Given the description of an element on the screen output the (x, y) to click on. 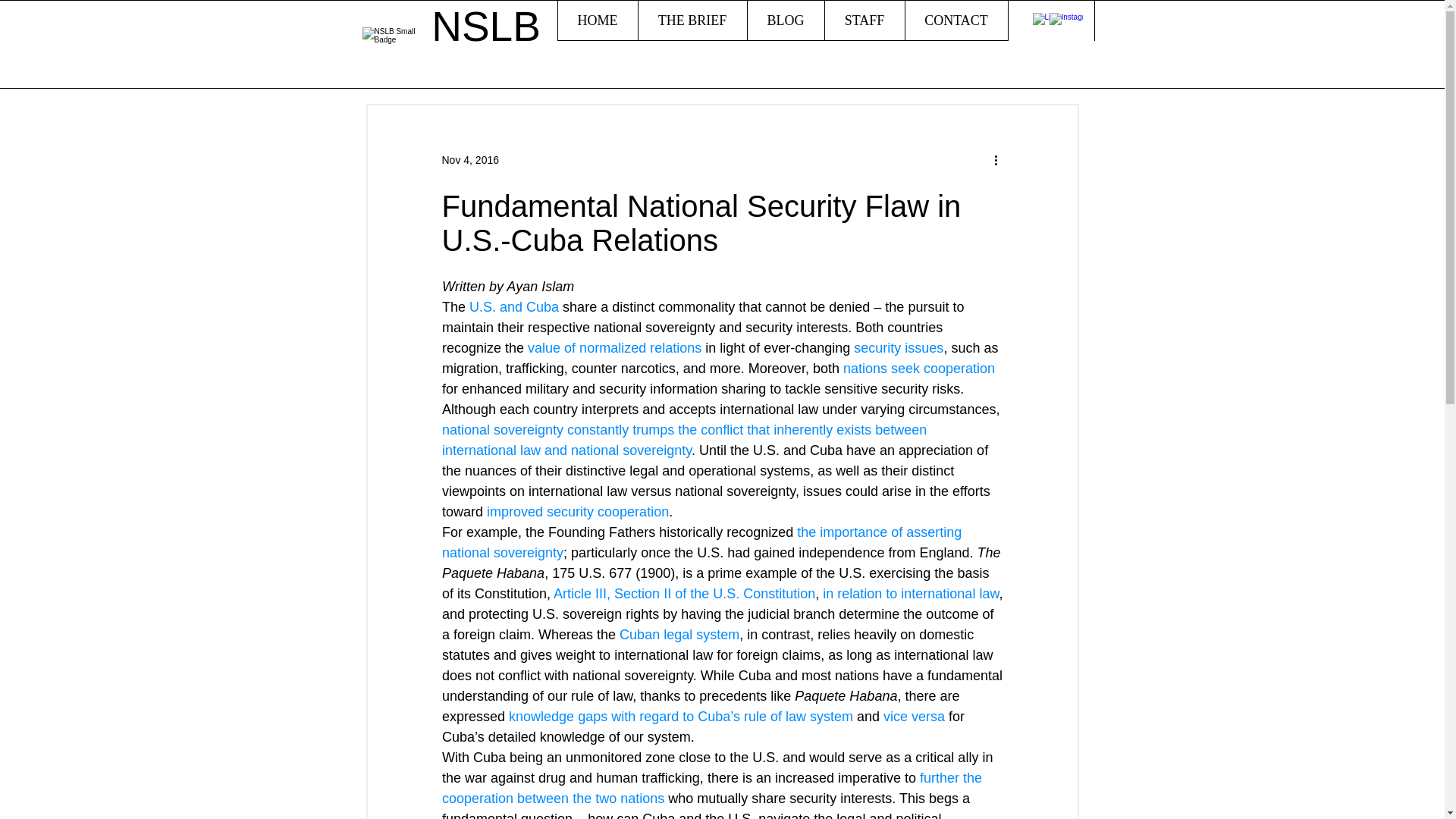
security issues (898, 347)
HOME (597, 20)
the importance of asserting national sovereignty (702, 542)
Article III, Section II of the U.S. Constitution (684, 593)
vice versa (913, 716)
U.S. and Cuba (513, 306)
nations seek cooperation (918, 368)
value of normalized relations (614, 347)
further the cooperation between the two nations (713, 787)
BLOG (784, 20)
